Given the description of an element on the screen output the (x, y) to click on. 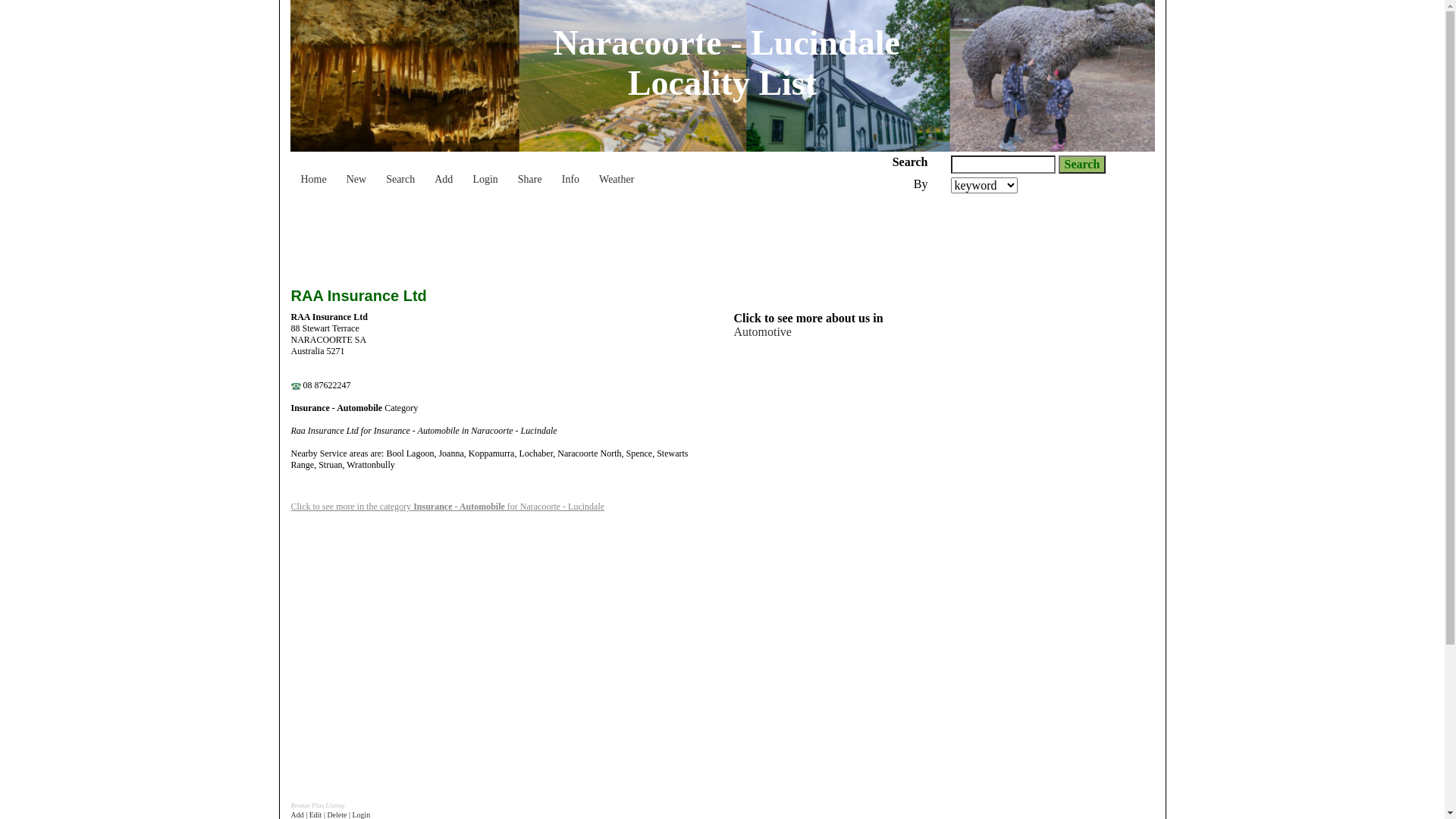
Login Element type: text (484, 171)
Weather Element type: text (616, 171)
Automotive Element type: text (762, 331)
Search Element type: text (1082, 164)
Home Element type: text (313, 171)
Info Element type: text (570, 171)
Add Element type: text (443, 171)
Advertisement Element type: hover (1015, 565)
Share Element type: text (530, 171)
New Element type: text (356, 171)
Advertisement Element type: hover (567, 234)
Search Element type: text (400, 171)
